Given the description of an element on the screen output the (x, y) to click on. 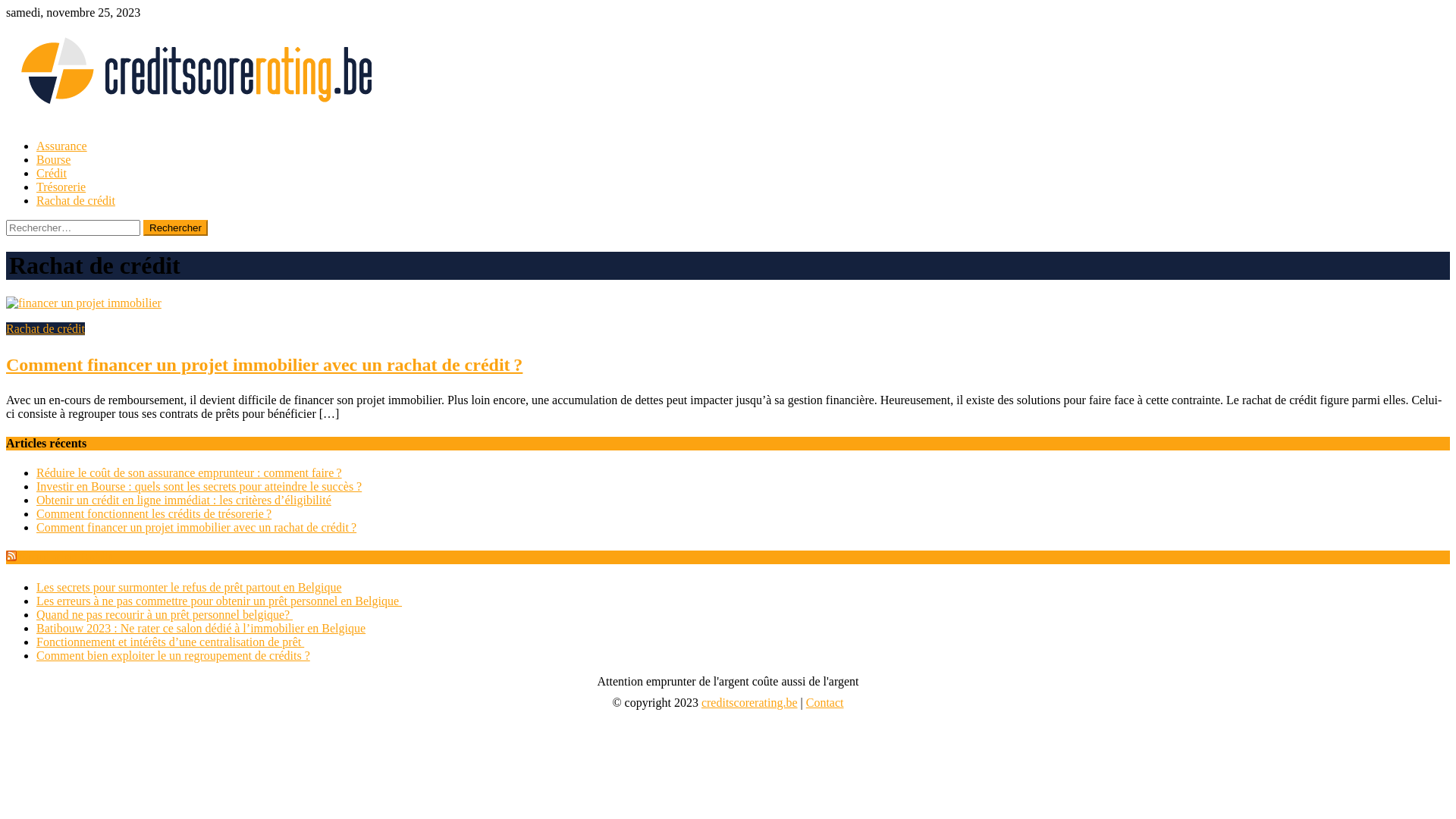
Assurance Element type: text (61, 145)
Bourse Element type: text (53, 159)
Contact Element type: text (825, 702)
Rechercher Element type: text (175, 227)
creditscorerating.be Element type: text (749, 702)
Skip to content Element type: text (5, 5)
